Given the description of an element on the screen output the (x, y) to click on. 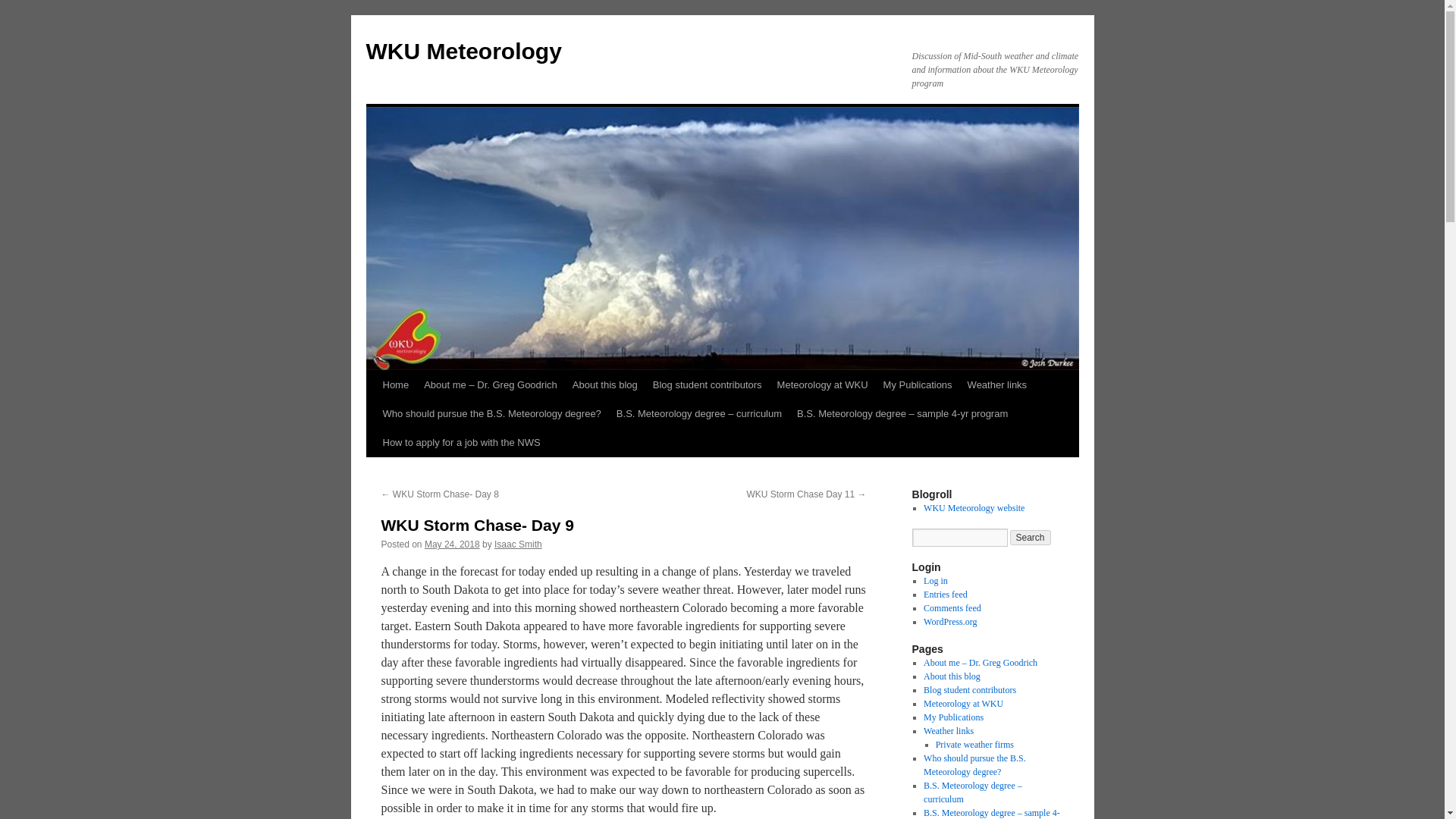
View all posts by Isaac Smith (518, 543)
WKU Meteorology (462, 50)
WordPress.org (949, 621)
About this blog (951, 675)
Who should pursue the B.S. Meteorology degree? (491, 413)
Comments feed (952, 607)
Isaac Smith (518, 543)
Home (395, 385)
WKU Meteorology website (974, 507)
Information about the WKU Meteorology program (974, 507)
